Given the description of an element on the screen output the (x, y) to click on. 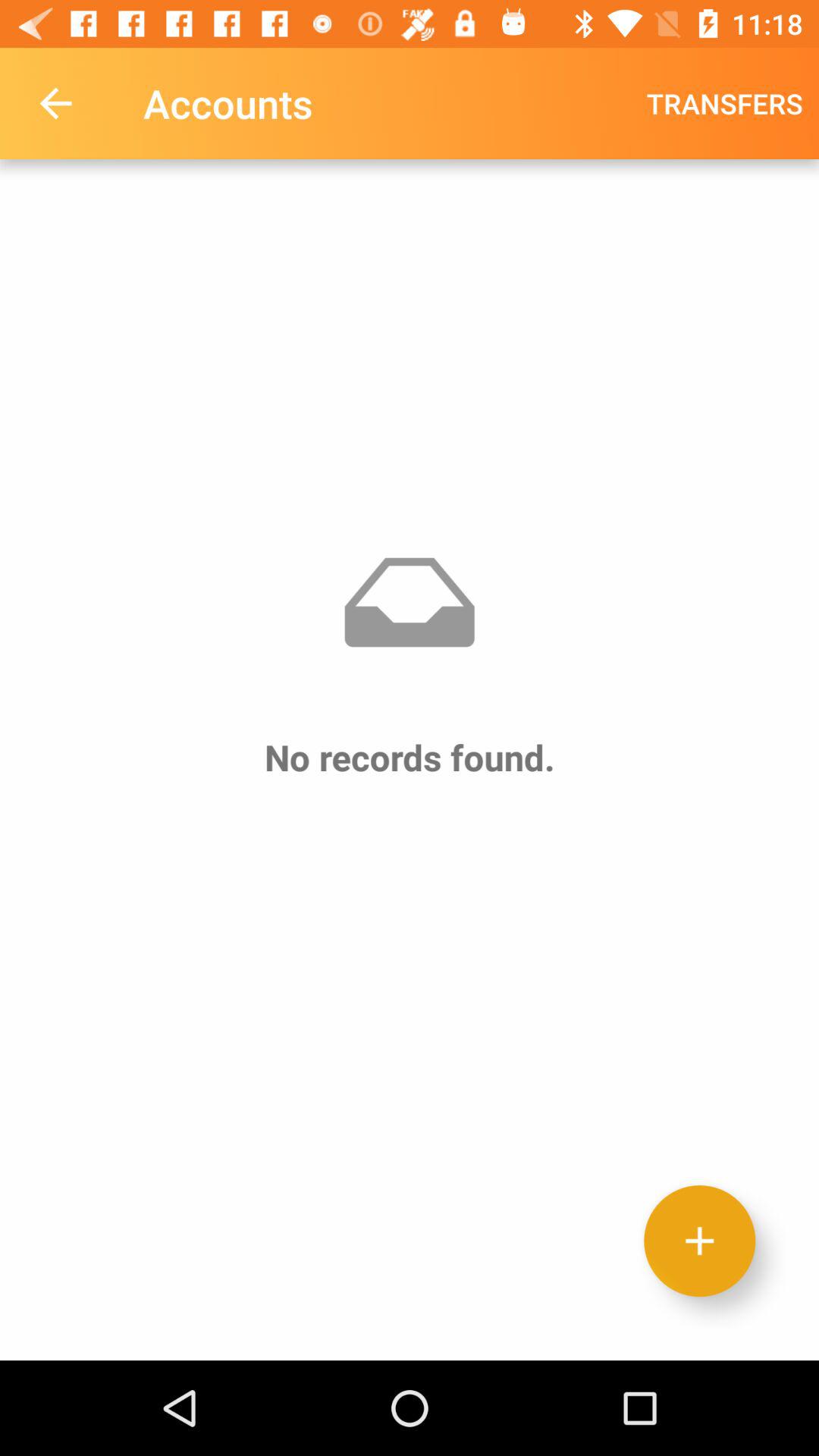
turn on the item to the right of the accounts item (724, 103)
